Given the description of an element on the screen output the (x, y) to click on. 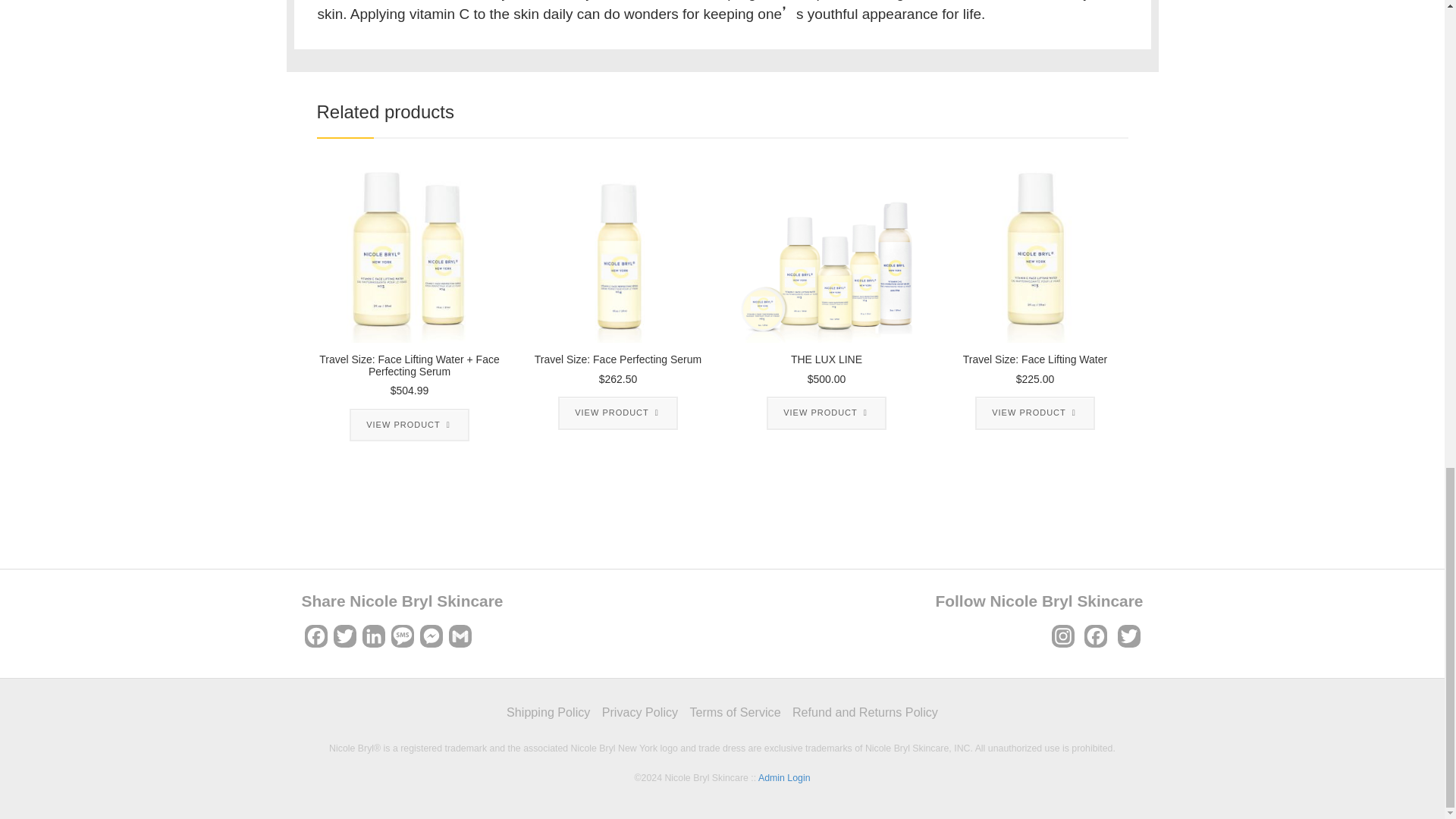
VIEW PRODUCT (617, 412)
Message (402, 639)
Instagram (1062, 639)
Messenger (430, 639)
Travel Size: Face Lifting Water   (1034, 250)
LinkedIn (373, 639)
THE LUX LINE   (826, 250)
VIEW PRODUCT (1034, 412)
VIEW PRODUCT (408, 425)
Gmail (459, 639)
Twitter (1128, 639)
Facebook (1095, 639)
VIEW PRODUCT (826, 412)
Shipping Policy (547, 712)
Facebook (315, 639)
